Given the description of an element on the screen output the (x, y) to click on. 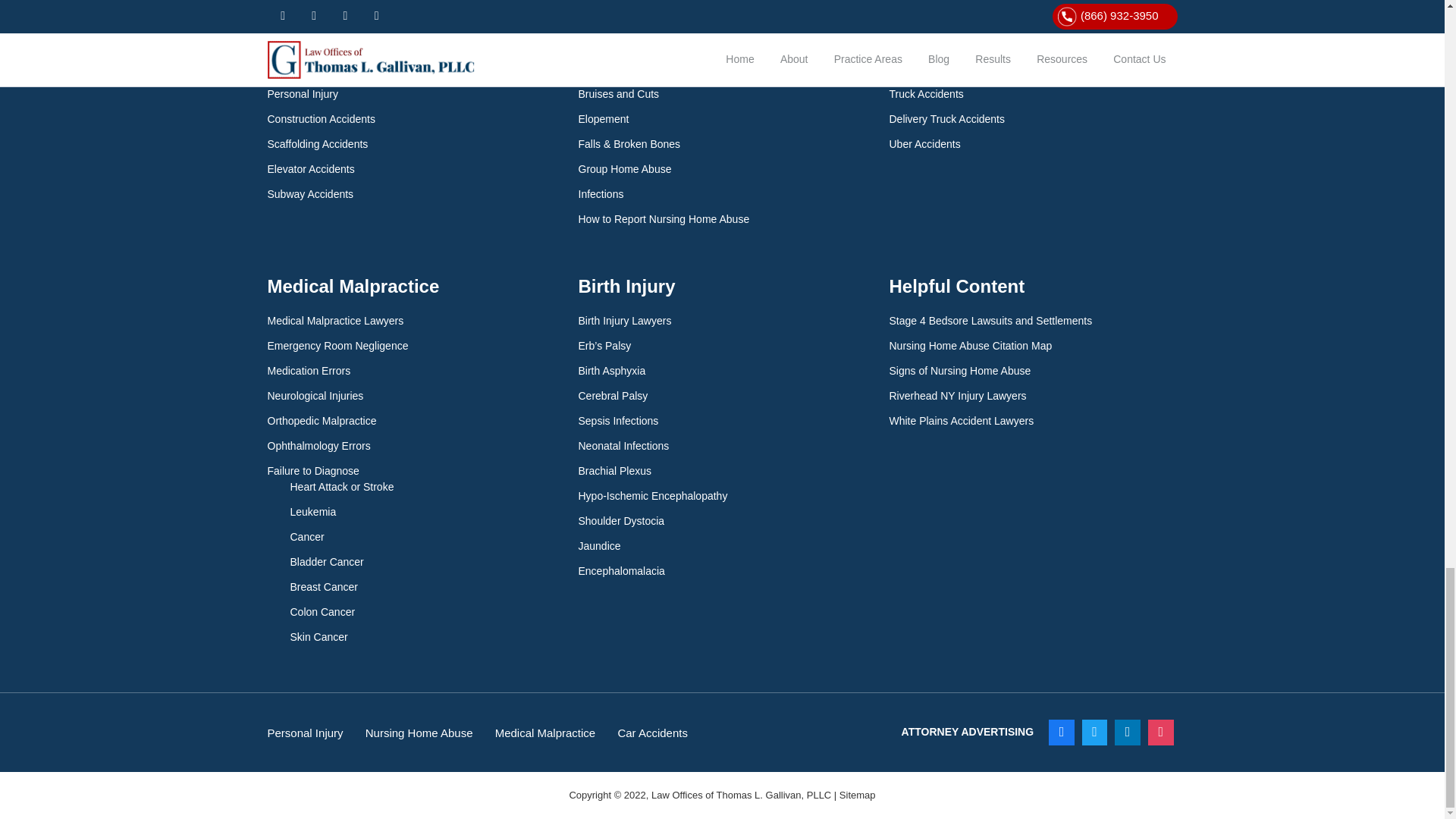
Twitter (1095, 732)
Linkedin (1127, 732)
Facebook alt (1061, 732)
Instagram (1160, 732)
